Given the description of an element on the screen output the (x, y) to click on. 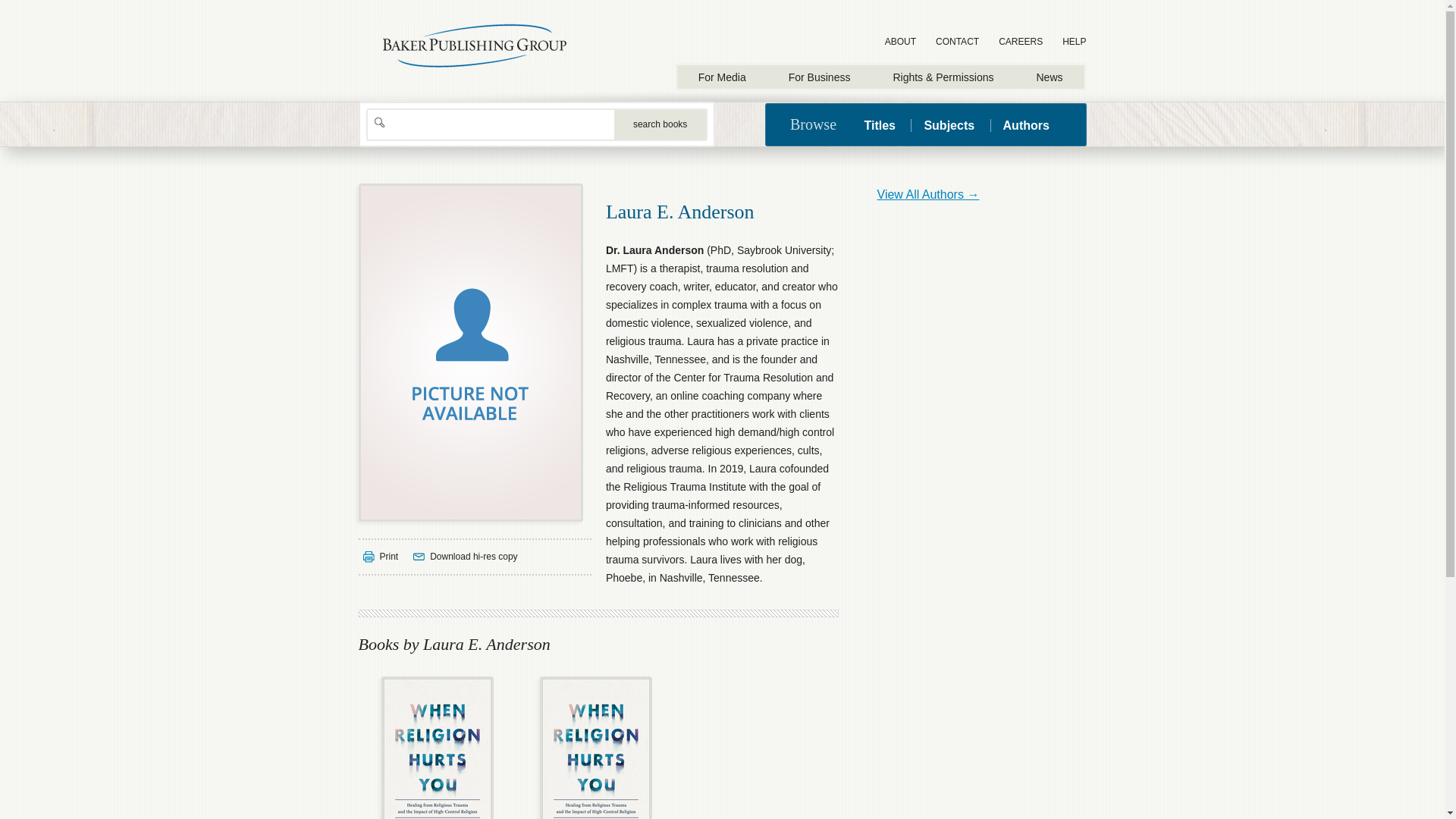
Search Books (660, 124)
Download hi-res copy (464, 556)
News (1048, 76)
CONTACT (957, 41)
For Business (819, 76)
Search Books (660, 124)
Authors (595, 744)
Subjects (1025, 124)
HELP (949, 124)
